Given the description of an element on the screen output the (x, y) to click on. 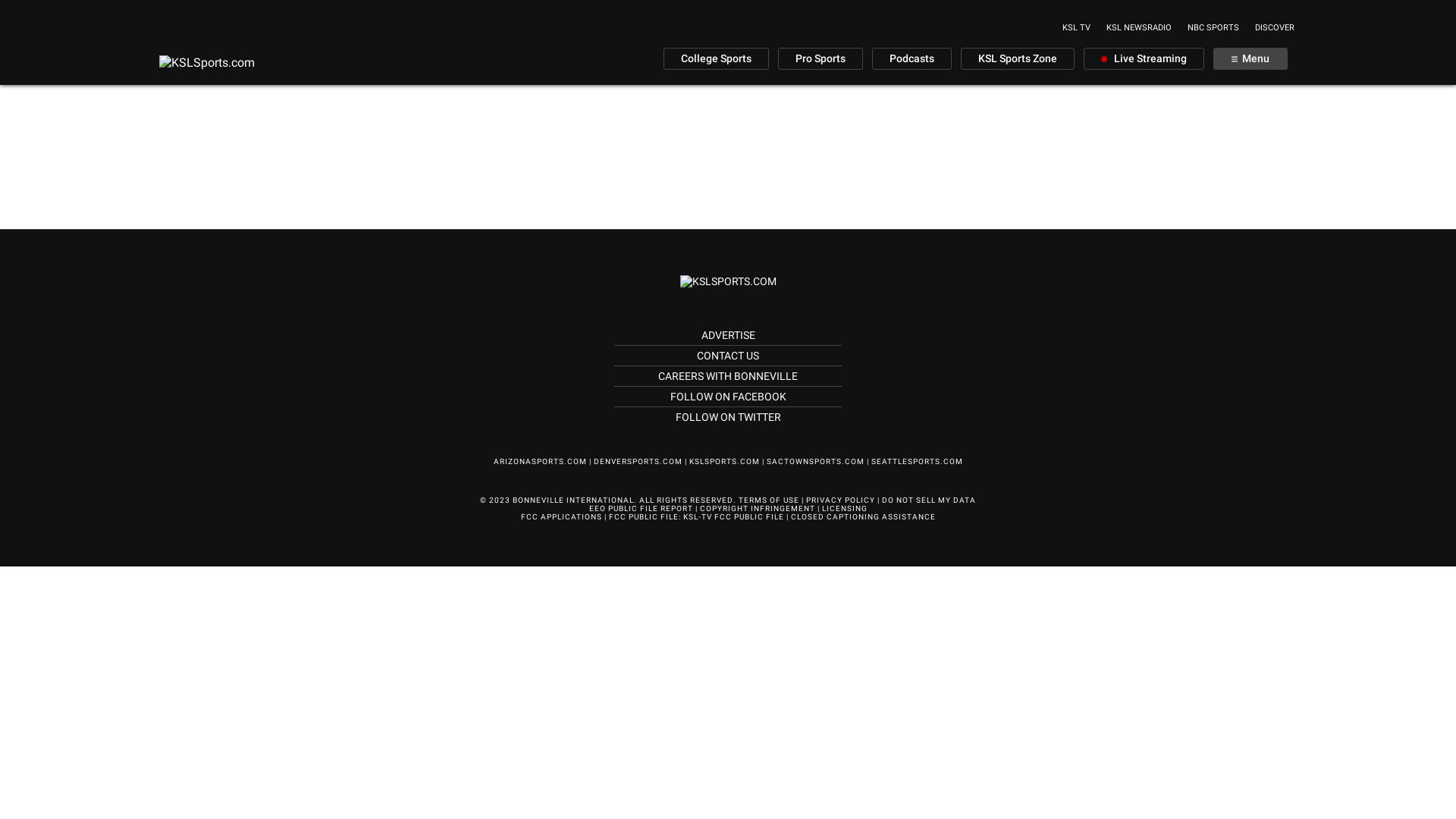
DO NOT SELL MY DATA Element type: text (928, 499)
DISCOVER Element type: text (1274, 27)
CAREERS WITH BONNEVILLE Element type: text (727, 376)
NBC SPORTS Element type: text (1213, 27)
KSL Sports Zone Element type: text (1017, 58)
KSL NEWSRADIO Element type: text (1138, 27)
KSL TV Element type: text (1076, 27)
KSL-TV FCC PUBLIC FILE Element type: text (732, 516)
CLOSED CAPTIONING ASSISTANCE Element type: text (862, 516)
FOLLOW ON FACEBOOK Element type: text (728, 396)
LICENSING Element type: text (844, 508)
EEO PUBLIC FILE REPORT Element type: text (640, 508)
College Sports Element type: text (715, 58)
 Live Streaming Element type: text (1143, 58)
Pro Sports Element type: text (820, 58)
FCC APPLICATIONS Element type: text (560, 516)
SACTOWNSPORTS.COM Element type: text (814, 461)
Podcasts Element type: text (911, 58)
CONTACT US Element type: text (727, 355)
DENVERSPORTS.COM Element type: text (637, 461)
KSLSPORTS.COM Element type: text (723, 461)
COPYRIGHT INFRINGEMENT Element type: text (756, 508)
ARIZONASPORTS.COM Element type: text (539, 461)
ADVERTISE Element type: text (727, 335)
PRIVACY POLICY Element type: text (840, 499)
SEATTLESPORTS.COM Element type: text (916, 461)
TERMS OF USE Element type: text (768, 499)
FOLLOW ON TWITTER Element type: text (727, 417)
